Given the description of an element on the screen output the (x, y) to click on. 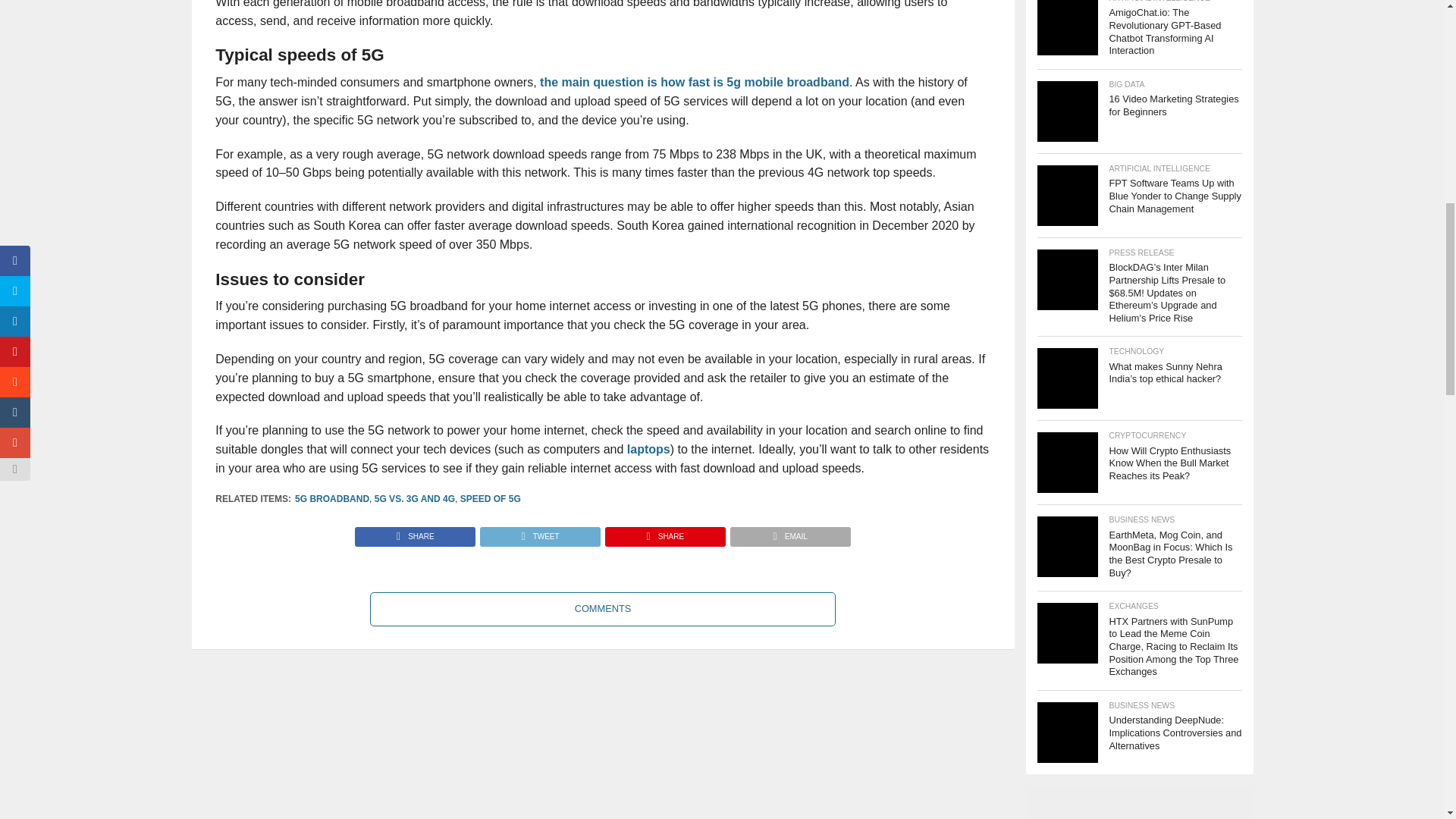
Tweet This Post (539, 532)
Pin This Post (664, 532)
Share on Facebook (415, 532)
